Given the description of an element on the screen output the (x, y) to click on. 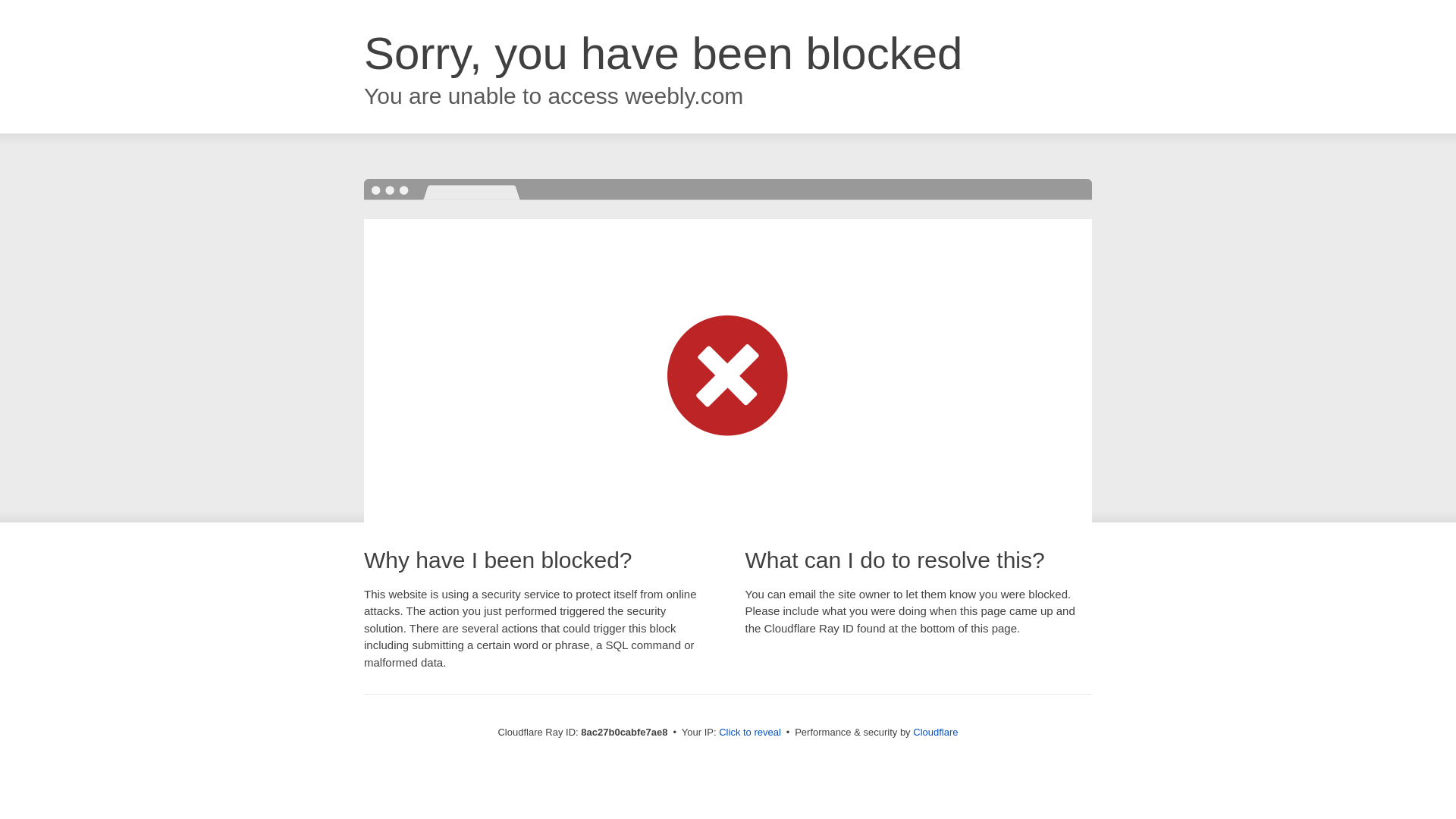
Click to reveal (749, 732)
Cloudflare (935, 731)
